Given the description of an element on the screen output the (x, y) to click on. 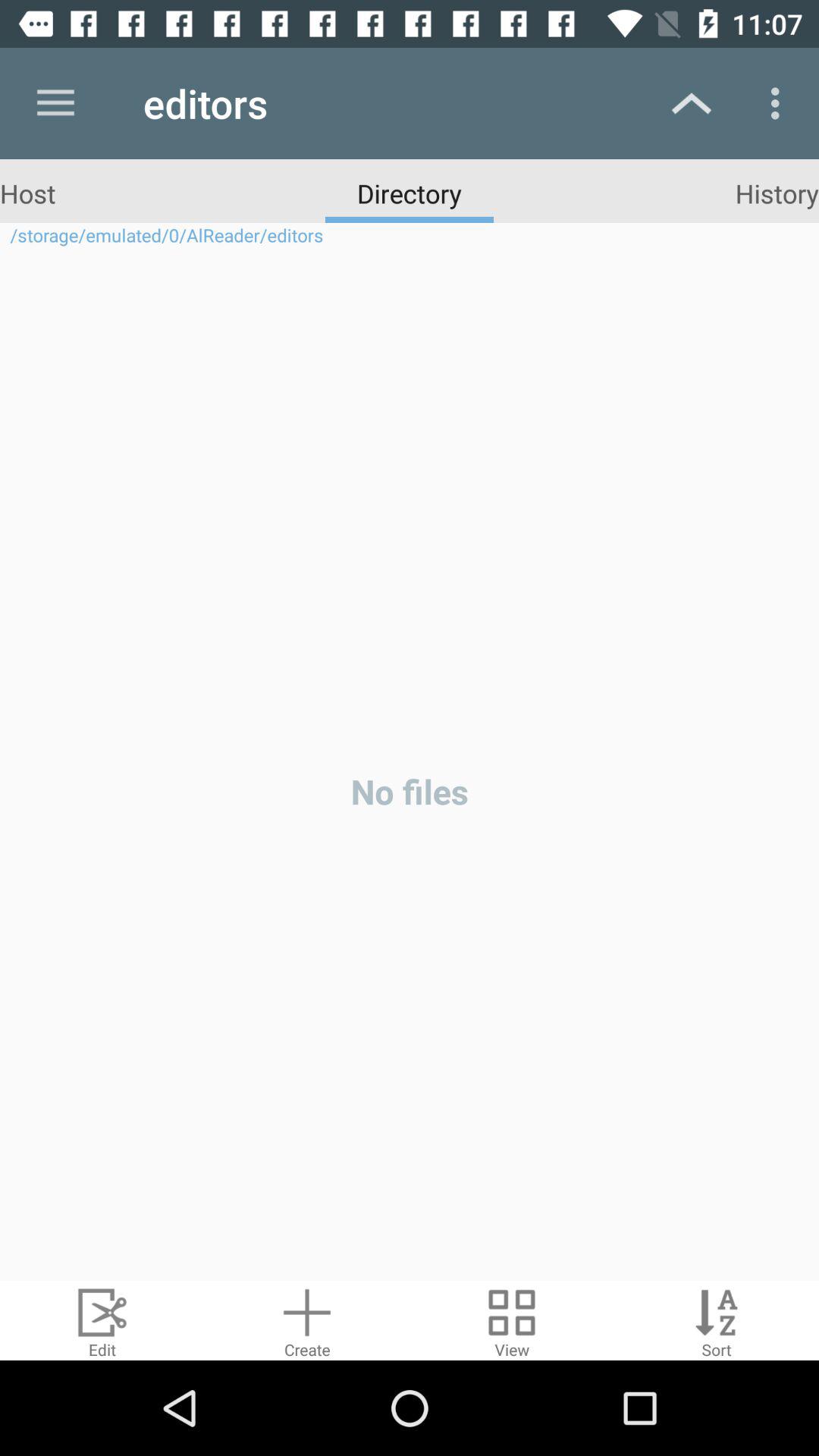
choose the item above the storage emulated 0 icon (777, 193)
